Given the description of an element on the screen output the (x, y) to click on. 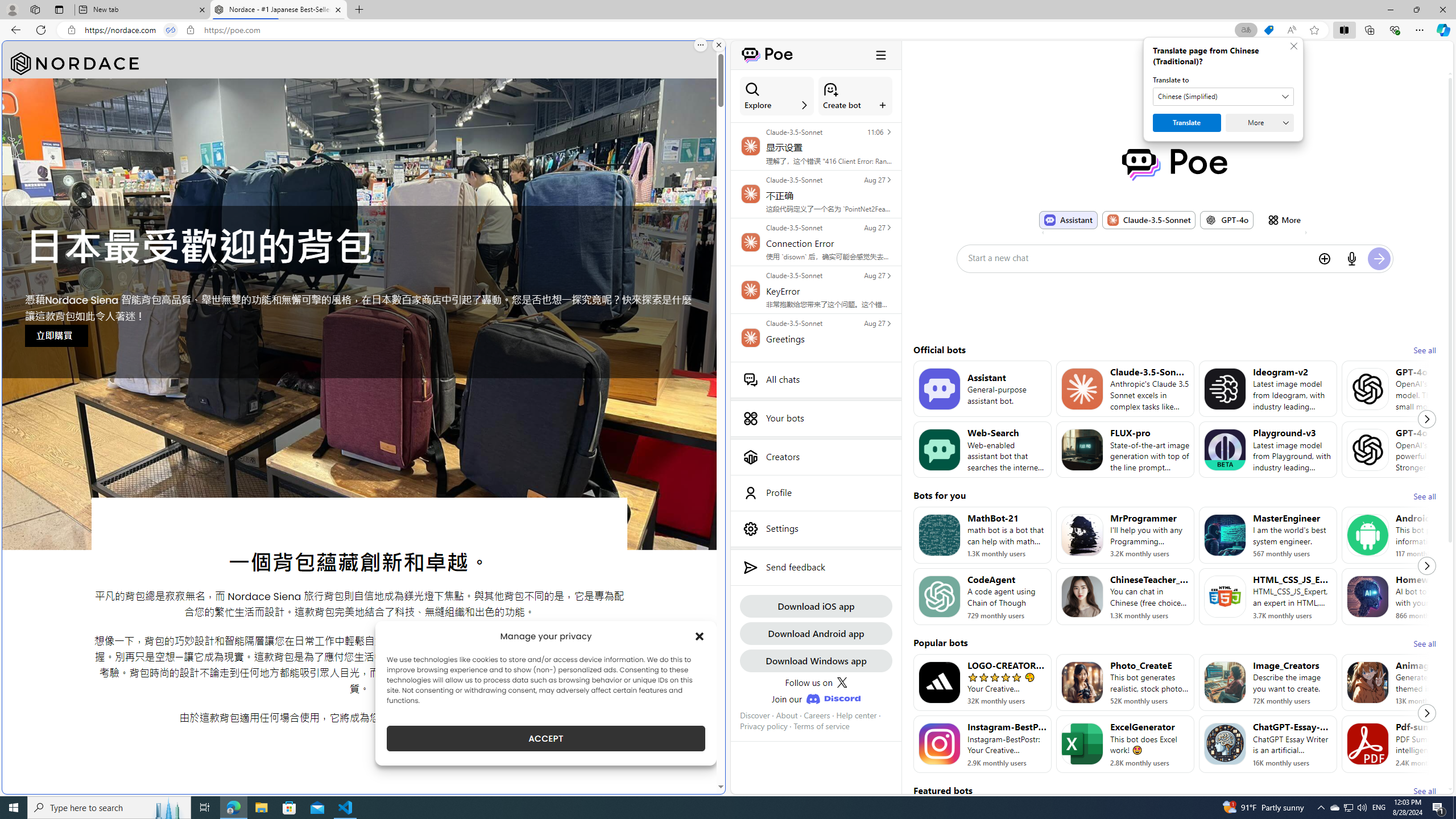
Bot image for Playground-v3 (1224, 449)
Class: JoinDiscordLink_discordIcon__Xw13A (833, 698)
Your bots (815, 418)
Poe (1174, 164)
All chats (815, 379)
Bot image for MathBot-21 (938, 534)
